Given the description of an element on the screen output the (x, y) to click on. 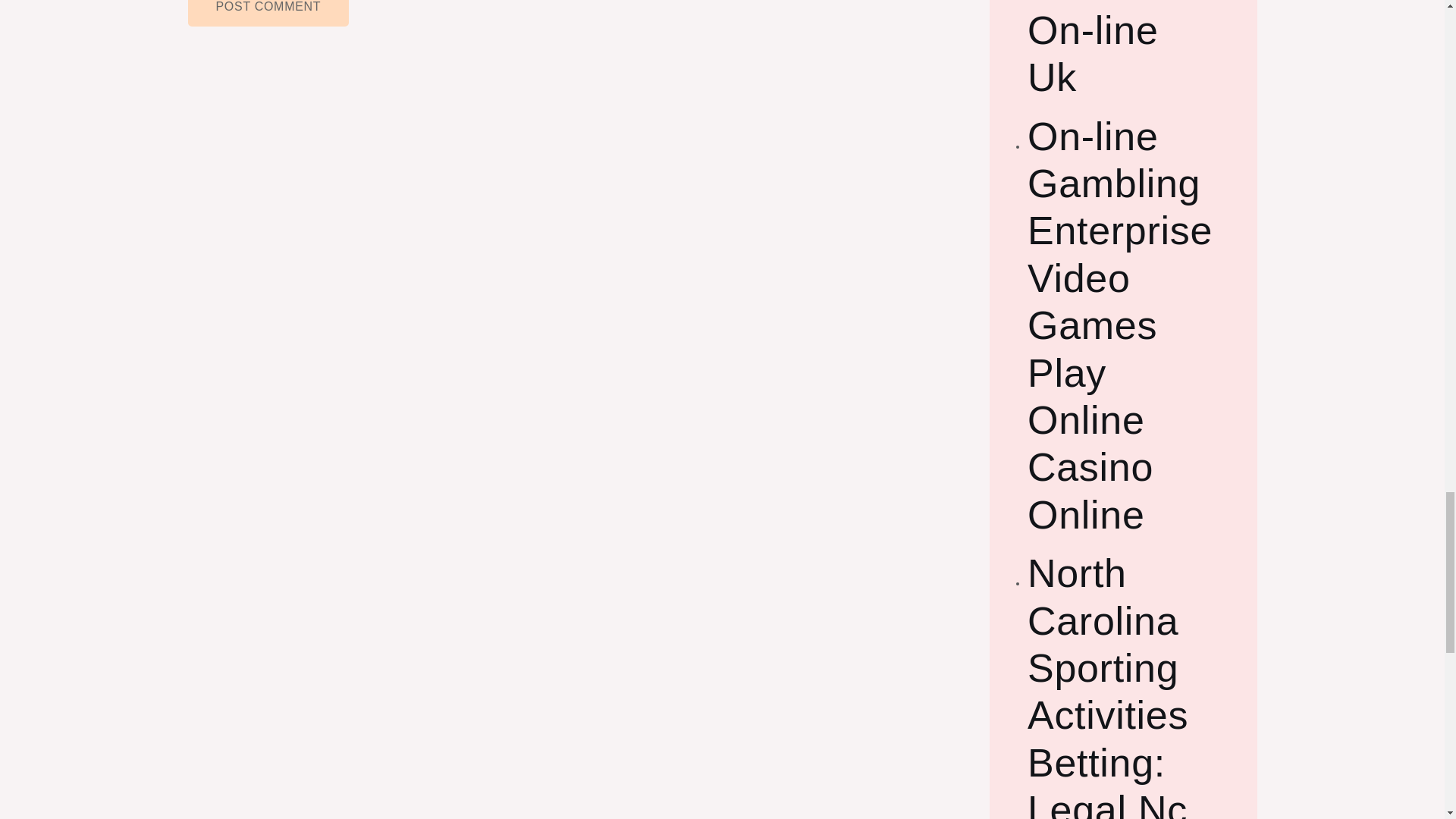
Play Online Casino Video Games On-line Uk (1123, 50)
Post Comment (268, 13)
Post Comment (268, 13)
